Given the description of an element on the screen output the (x, y) to click on. 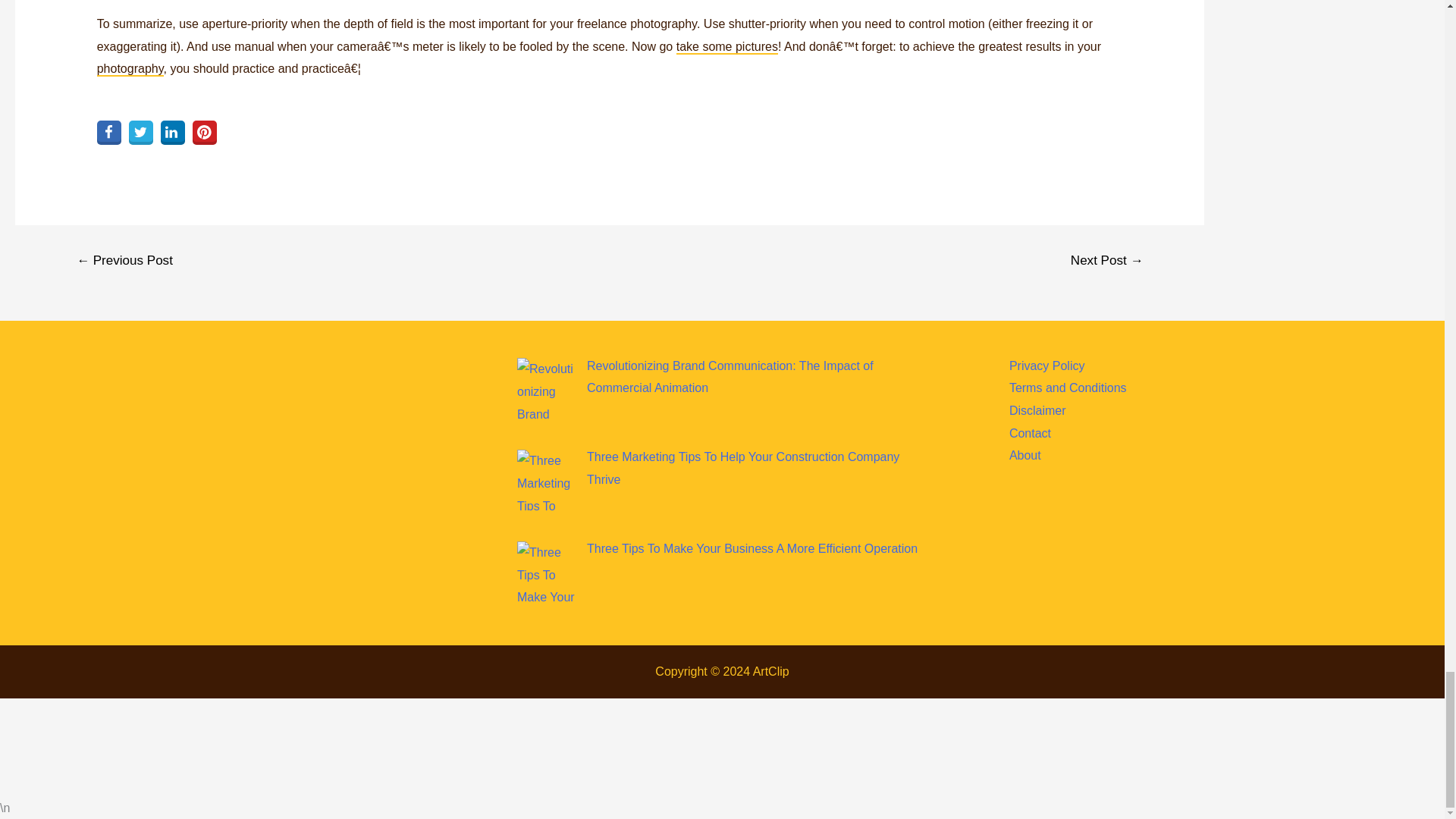
take some pictures (727, 47)
photography (130, 69)
